Given the description of an element on the screen output the (x, y) to click on. 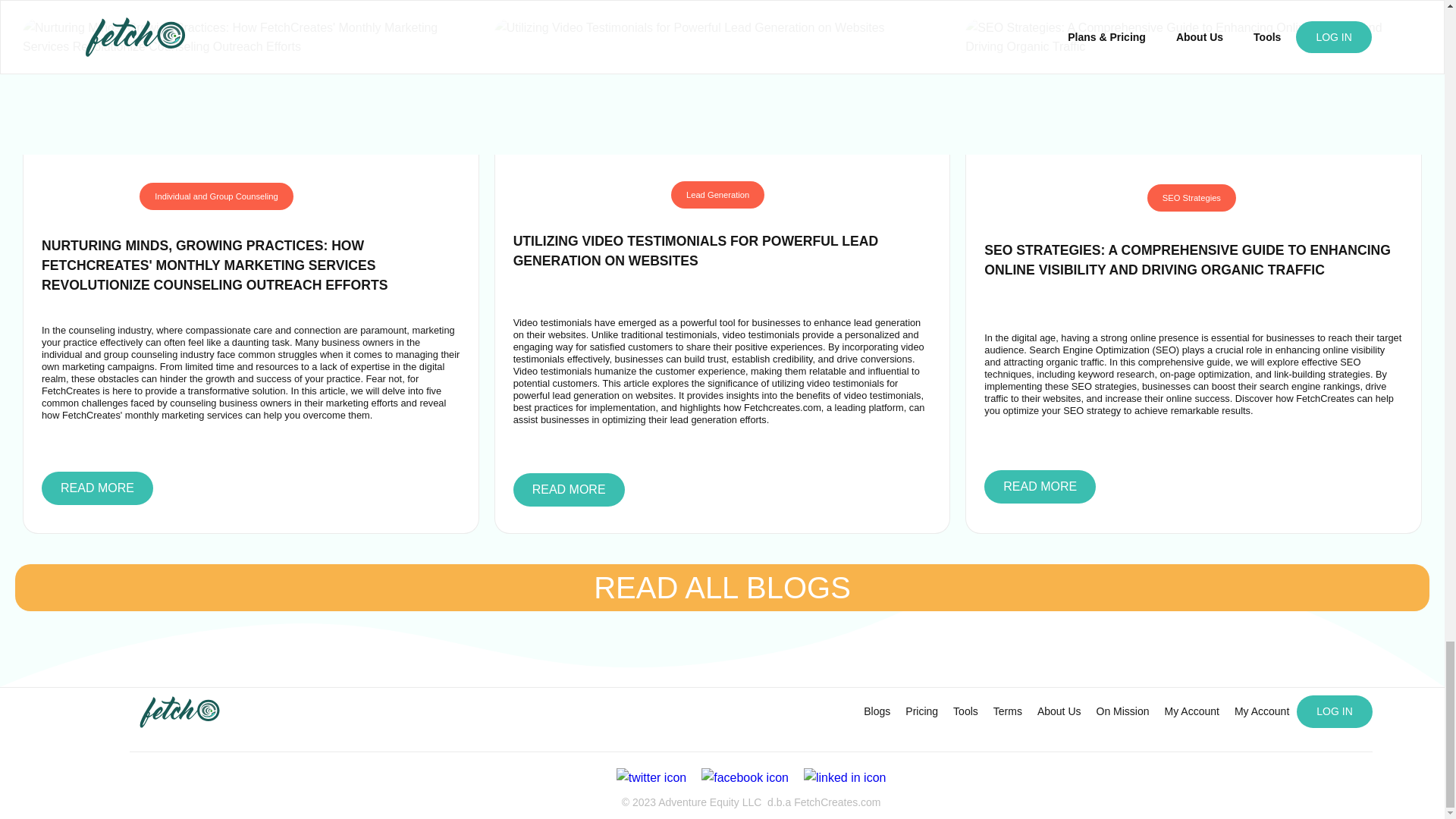
On Mission (1123, 711)
READ MORE (97, 488)
READ MORE (568, 489)
Blogs (877, 711)
Tools (964, 711)
My Account (1192, 711)
Pricing (921, 711)
READ MORE (1040, 486)
Terms (1007, 711)
READ ALL BLOGS (721, 587)
About Us (1059, 711)
